Given the description of an element on the screen output the (x, y) to click on. 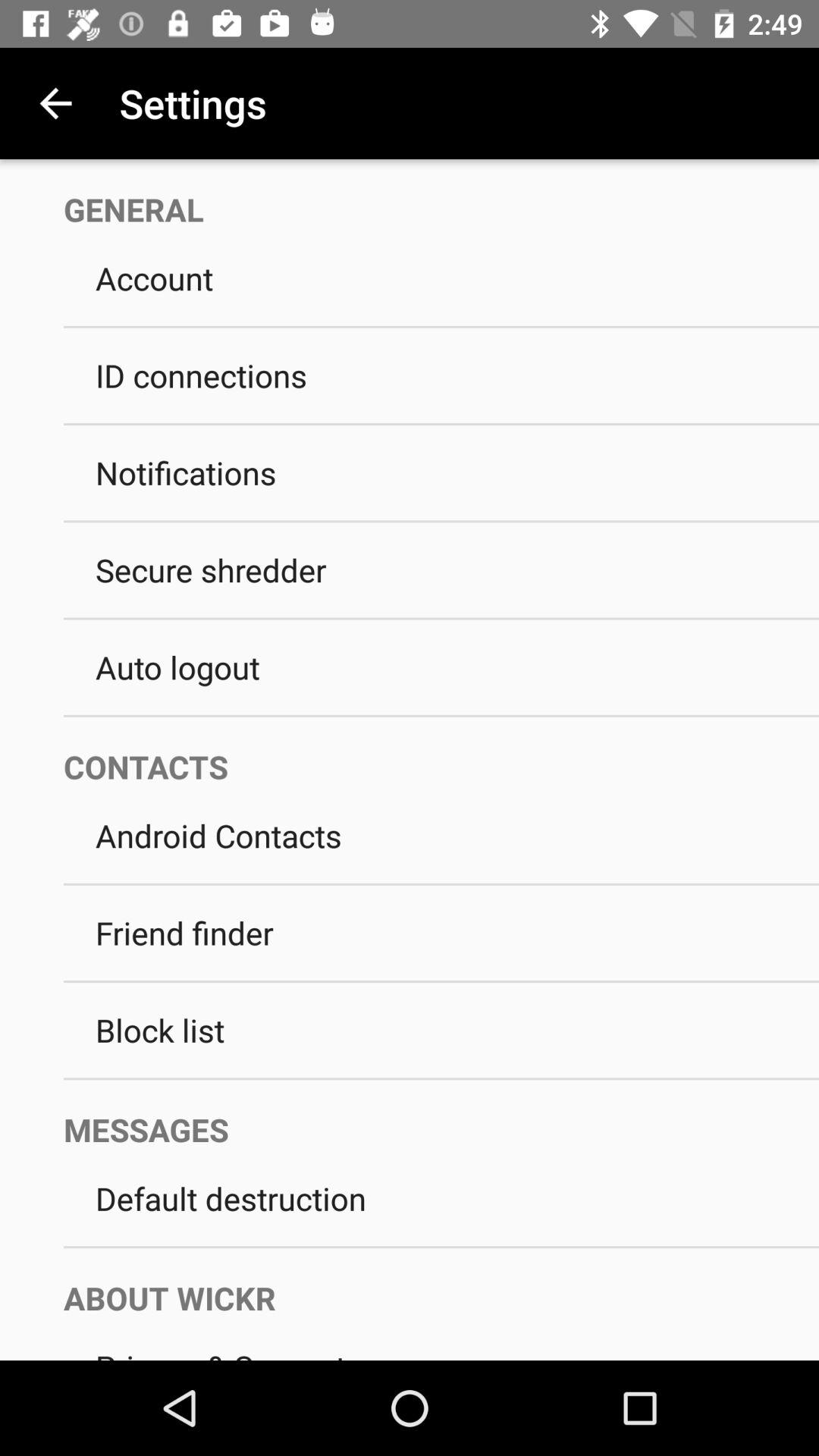
select icon next to settings app (55, 103)
